Given the description of an element on the screen output the (x, y) to click on. 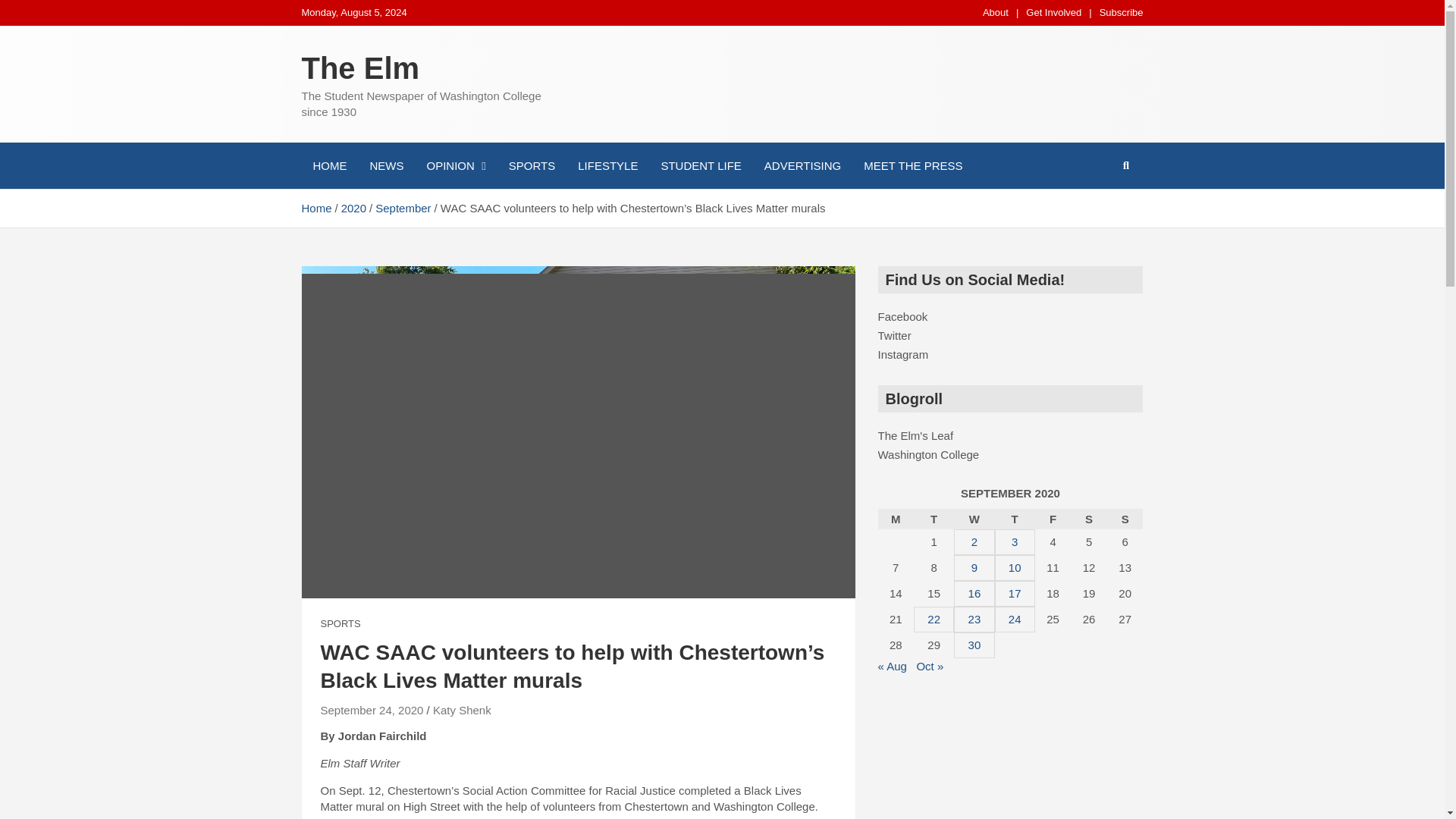
Wednesday (973, 518)
OPINION (455, 165)
Tuesday (933, 518)
2020 (353, 207)
HOME (329, 165)
About (995, 12)
Friday (1053, 518)
The Elm (360, 68)
September 24, 2020 (371, 709)
MEET THE PRESS (912, 165)
SPORTS (531, 165)
Home (316, 207)
STUDENT LIFE (700, 165)
Thursday (1014, 518)
Katy Shenk (462, 709)
